Given the description of an element on the screen output the (x, y) to click on. 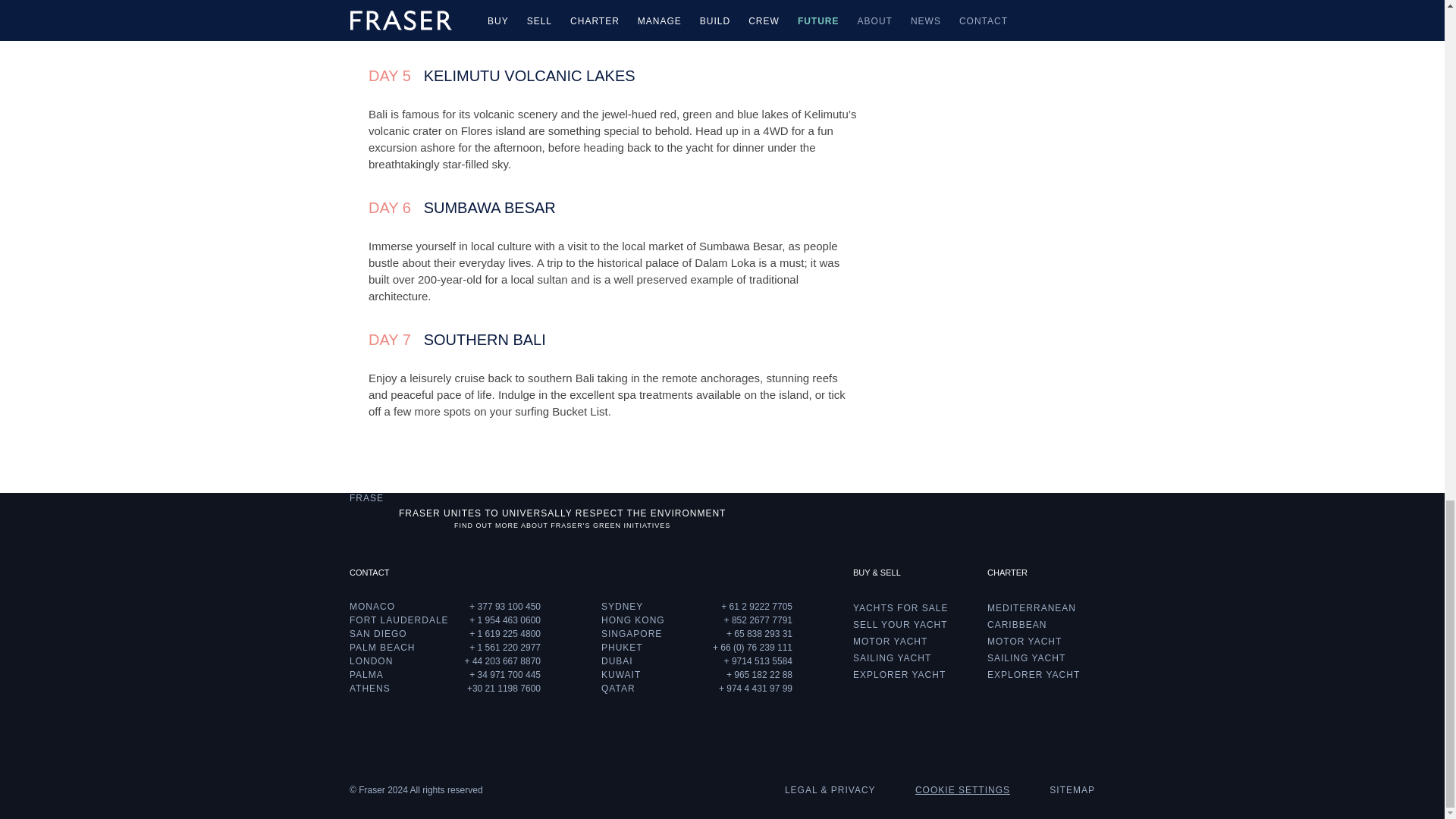
Pinterest (996, 520)
YouTube (1049, 520)
Instagram (1075, 520)
Explorer yacht (1033, 674)
Twitter (969, 520)
Facebook (943, 520)
LinkedIn (1022, 520)
